Given the description of an element on the screen output the (x, y) to click on. 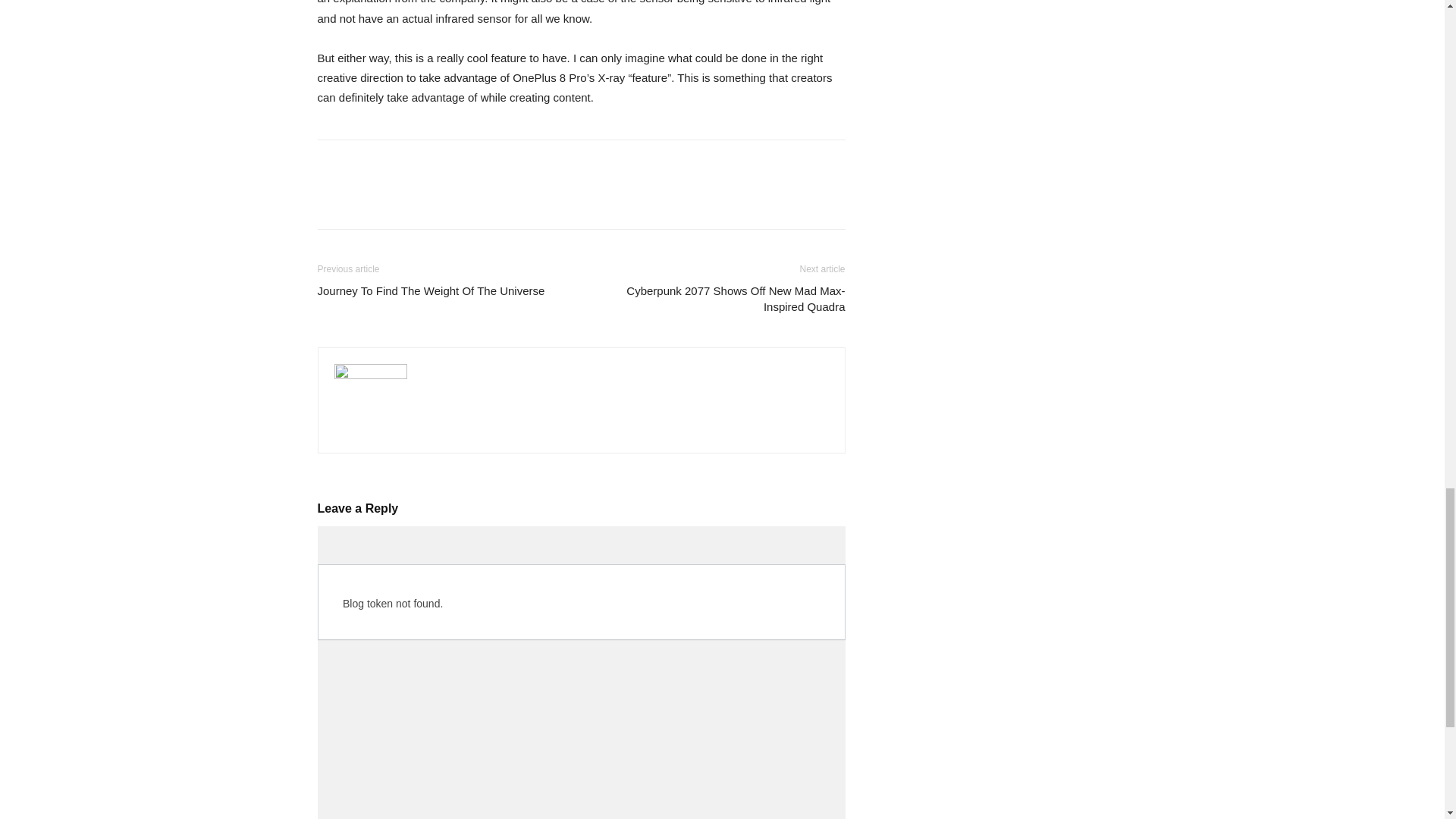
Cyberpunk 2077 Shows Off New Mad Max-Inspired Quadra (721, 298)
Journey To Find The Weight Of The Universe (430, 290)
bottomFacebookLike (430, 163)
